Given the description of an element on the screen output the (x, y) to click on. 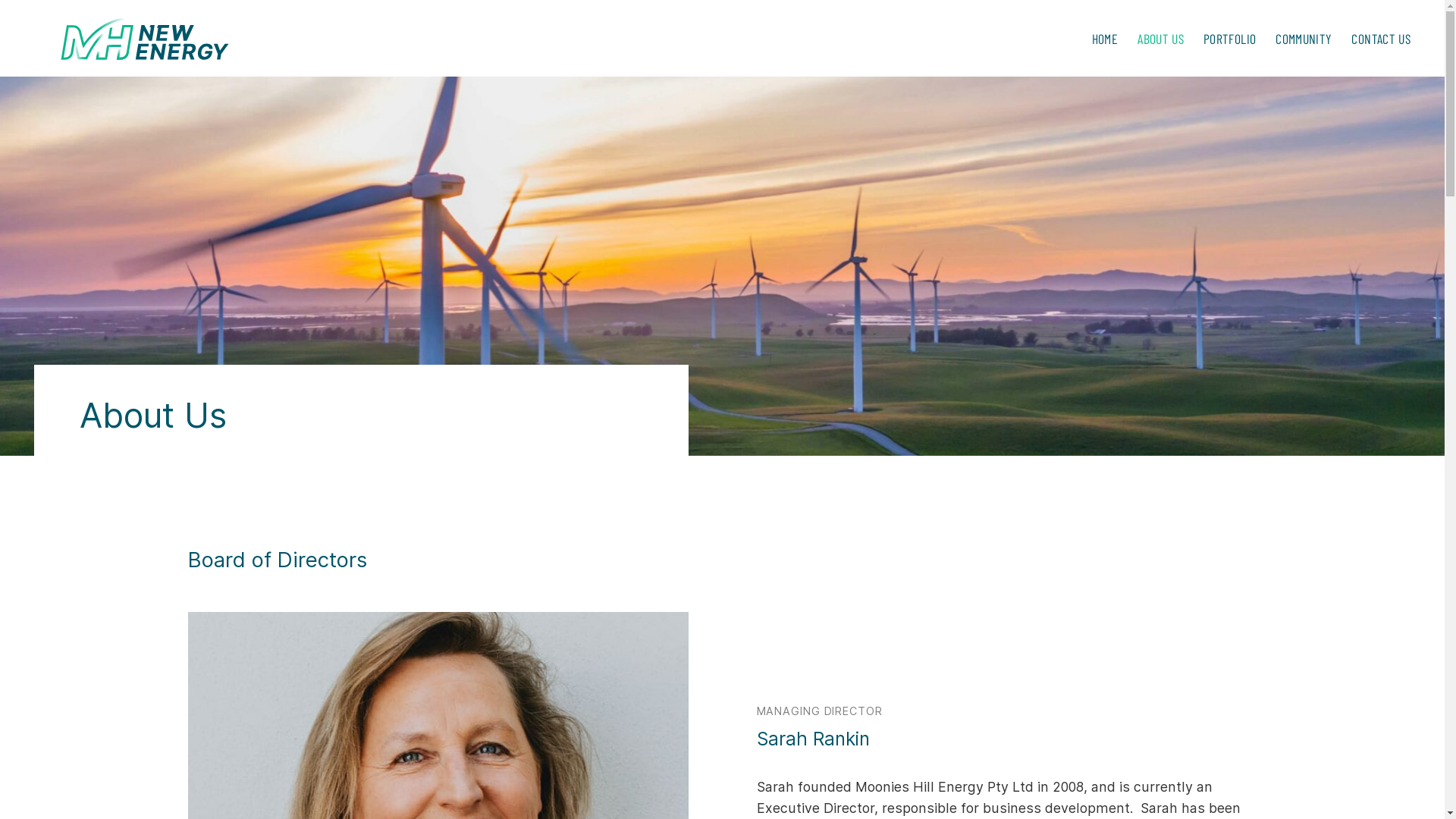
Moonies Hill Energy Element type: hover (147, 38)
CONTACT US Element type: text (1380, 37)
PORTFOLIO Element type: text (1229, 37)
COMMUNITY Element type: text (1303, 37)
ABOUT US Element type: text (1160, 37)
Skip to content Element type: text (0, 0)
HOME Element type: text (1104, 37)
